Given the description of an element on the screen output the (x, y) to click on. 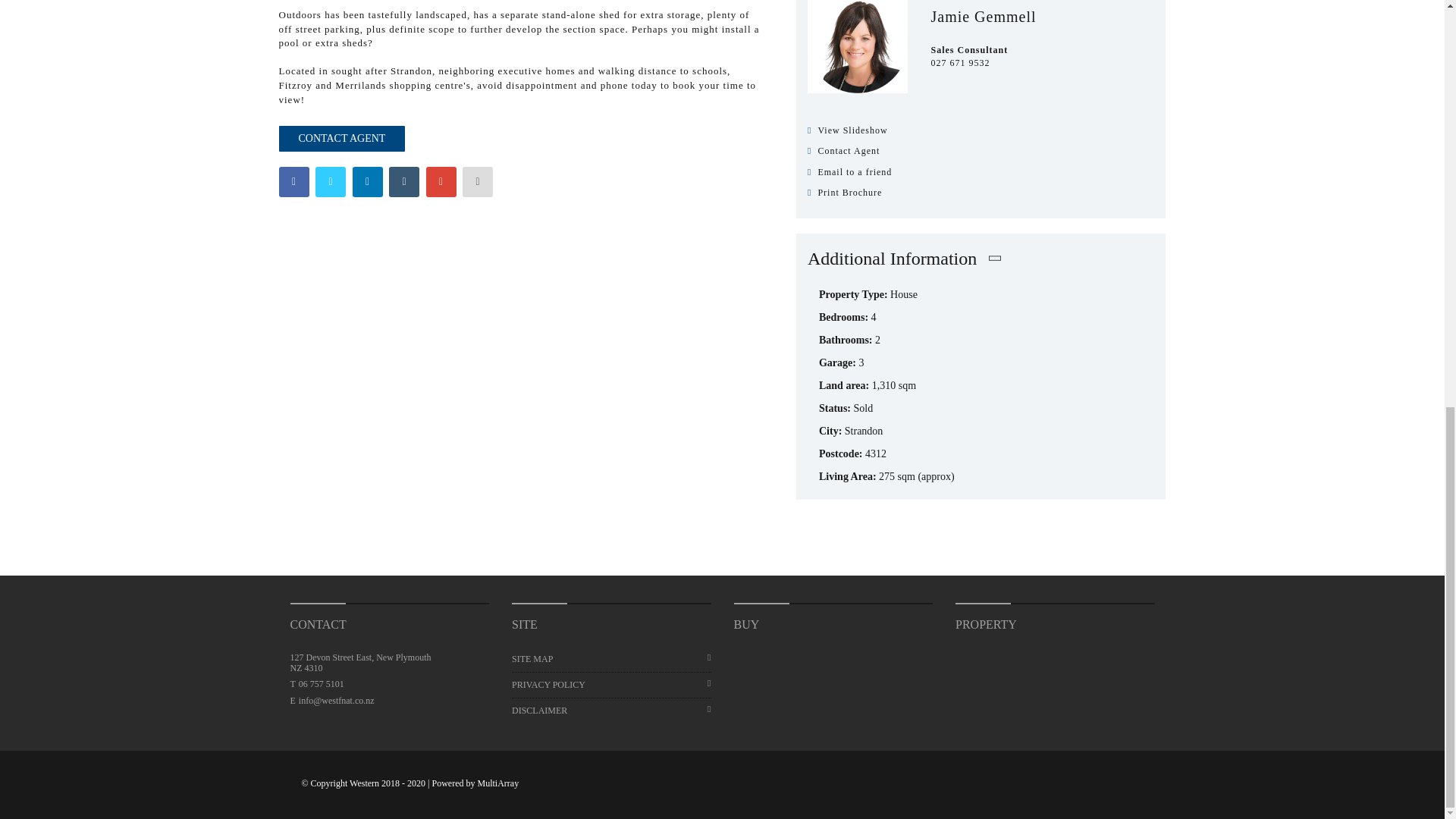
Share on LinkedIn (366, 182)
View Slideshow (981, 130)
Share on facebook (293, 182)
Share on Google plus (441, 182)
Share on Twitter (330, 182)
Email to a Friend (478, 182)
Share on Tumblr (403, 182)
CONTACT AGENT (342, 138)
